Given the description of an element on the screen output the (x, y) to click on. 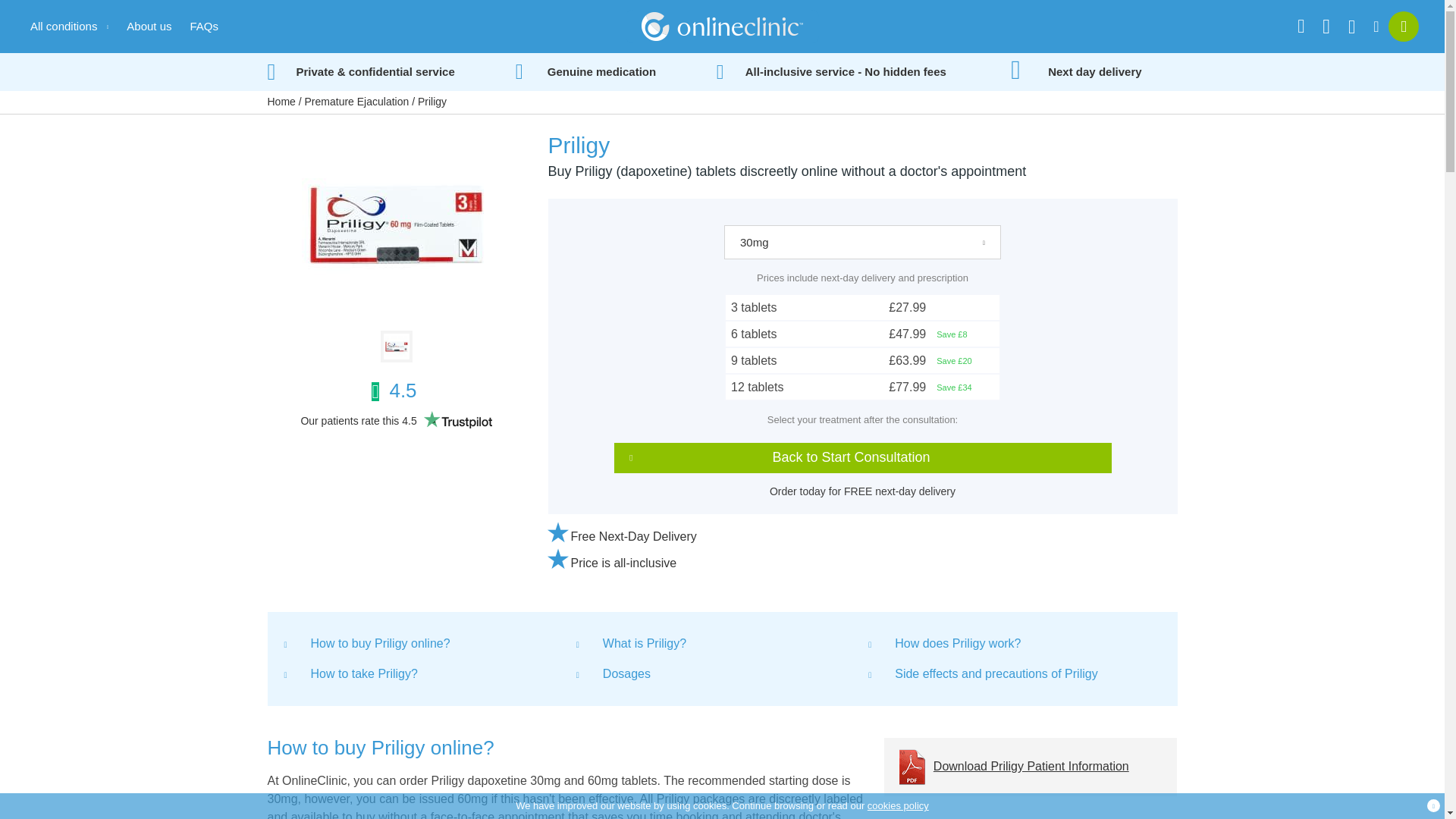
All conditions (68, 25)
FAQs (203, 25)
About us (148, 25)
